Given the description of an element on the screen output the (x, y) to click on. 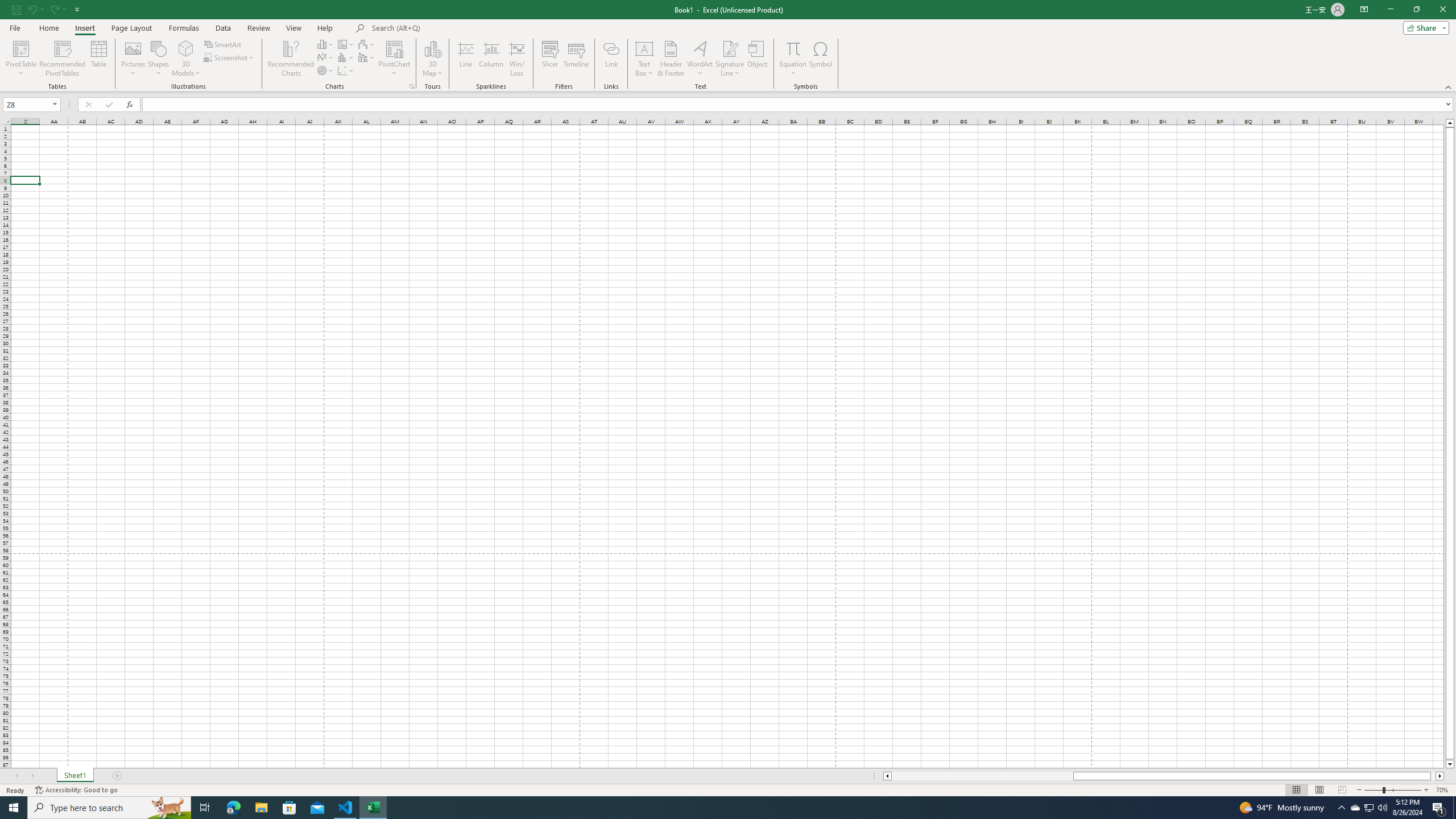
Insert Waterfall, Funnel, Stock, Surface, or Radar Chart (366, 44)
Win/Loss (516, 58)
Column (491, 58)
Equation (793, 48)
Formula Bar (798, 104)
3D Models (186, 58)
Page left (982, 775)
